Given the description of an element on the screen output the (x, y) to click on. 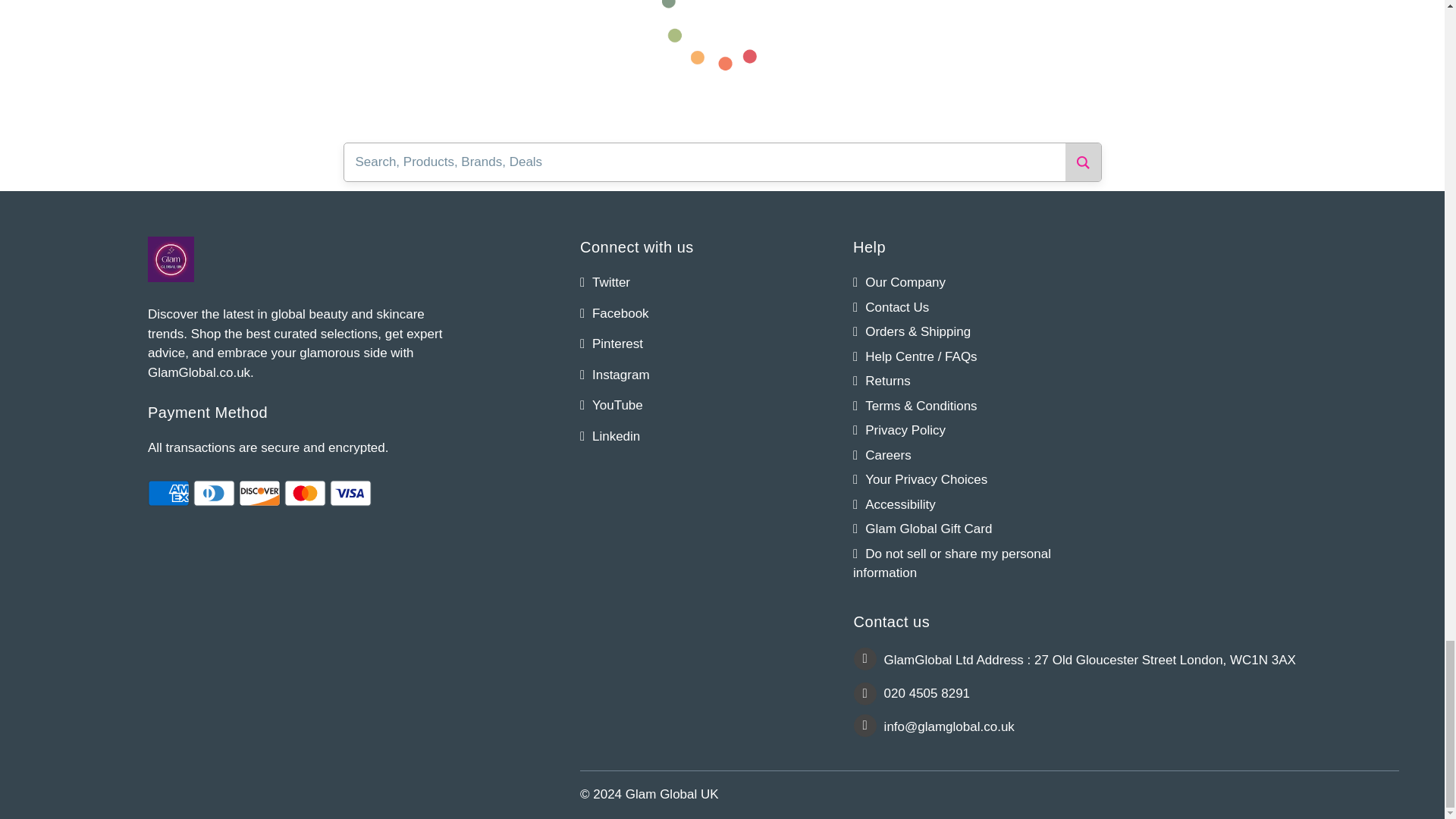
Visa (350, 493)
Mastercard (304, 493)
Diners Club (213, 493)
Discover (259, 493)
American Express (168, 493)
